Given the description of an element on the screen output the (x, y) to click on. 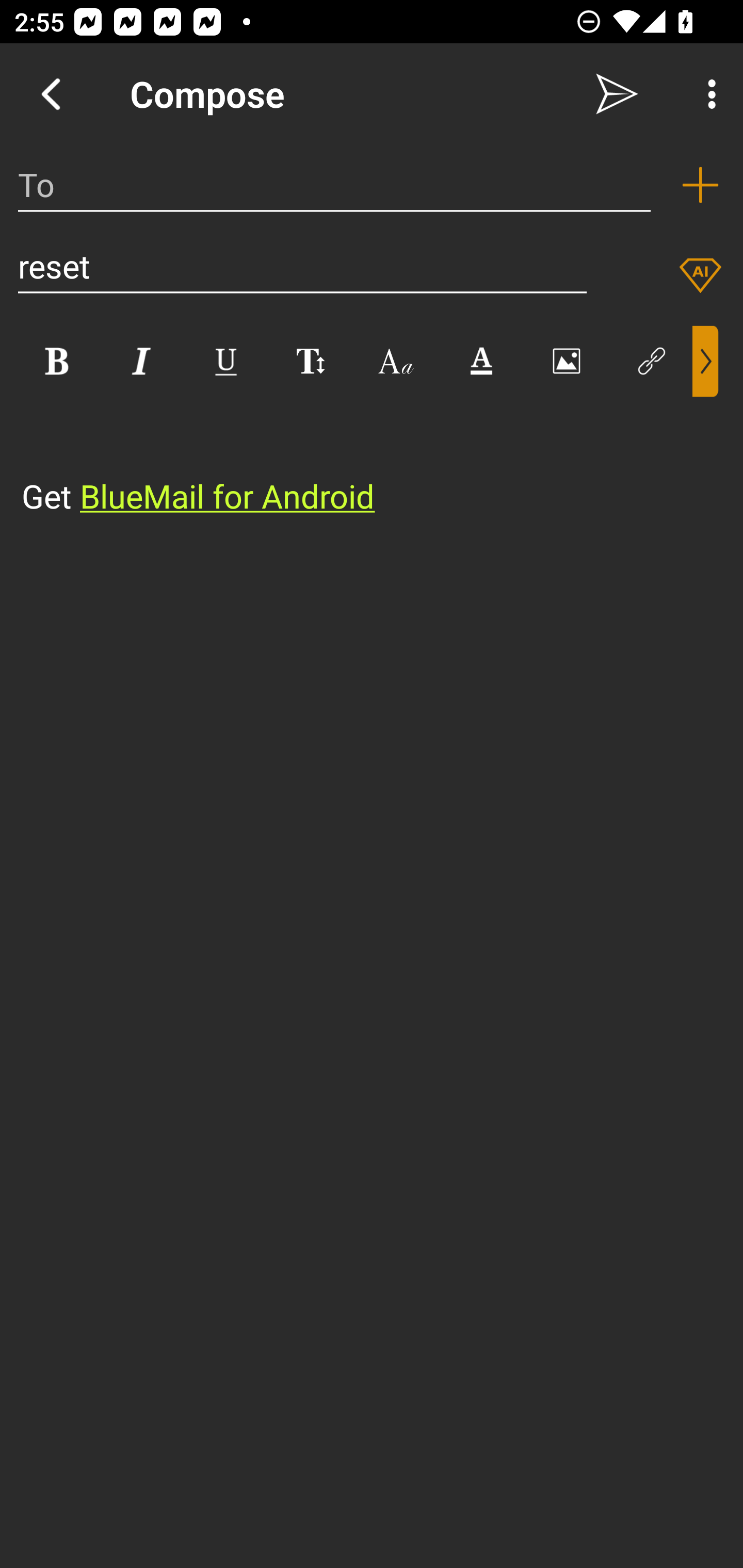
Navigate up (50, 93)
Send (616, 93)
More Options (706, 93)
To (334, 184)
Add recipient (To) (699, 184)
reset (302, 266)


⁣Get BlueMail for Android ​ (355, 457)
